Given the description of an element on the screen output the (x, y) to click on. 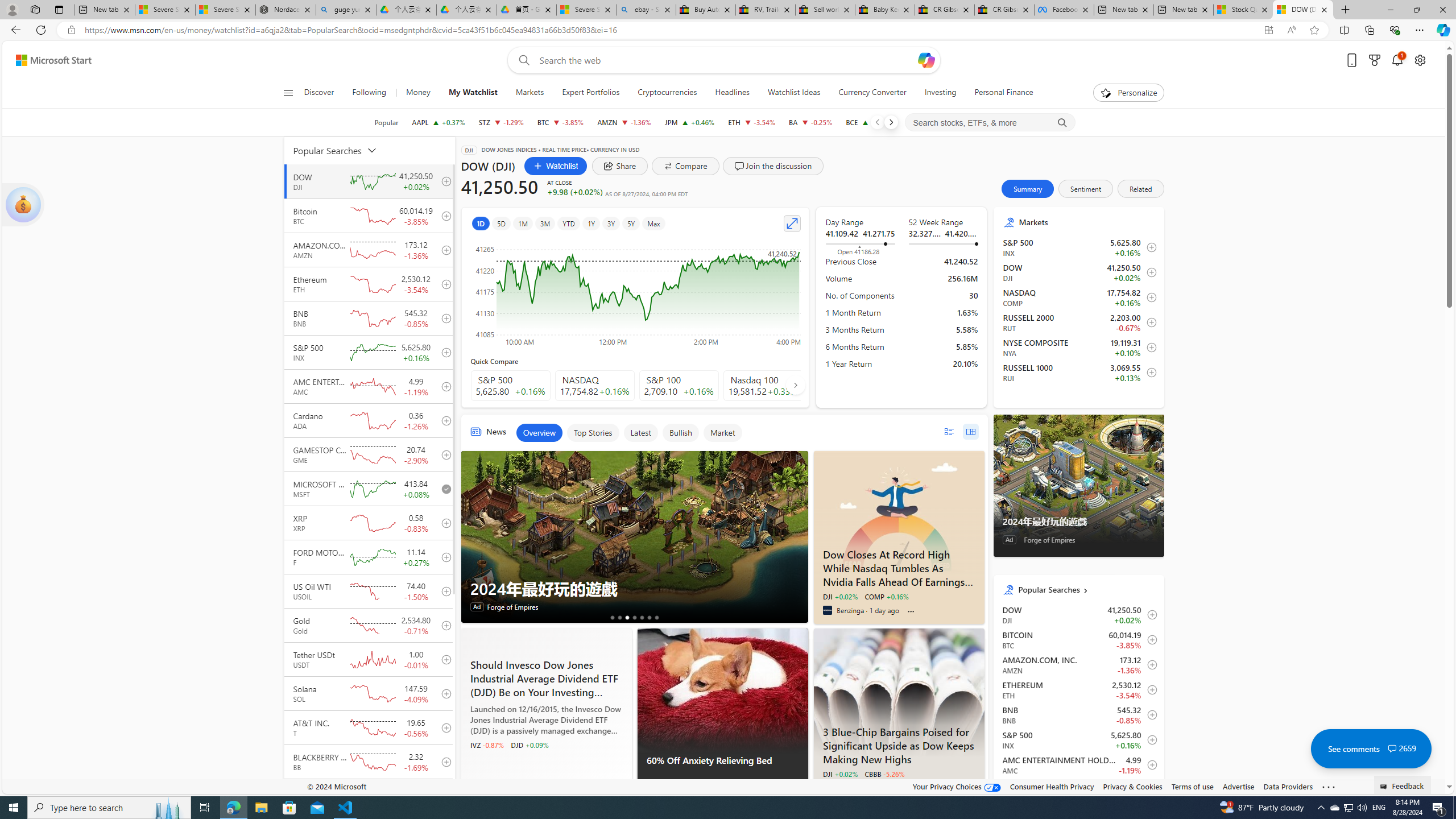
Market (722, 432)
IVZ -0.87% (486, 744)
DJD +0.09% (528, 744)
BCE BCE Inc increase 35.22 +0.08 +0.23% (869, 122)
Next (890, 122)
remove from your watchlist (442, 488)
